Given the description of an element on the screen output the (x, y) to click on. 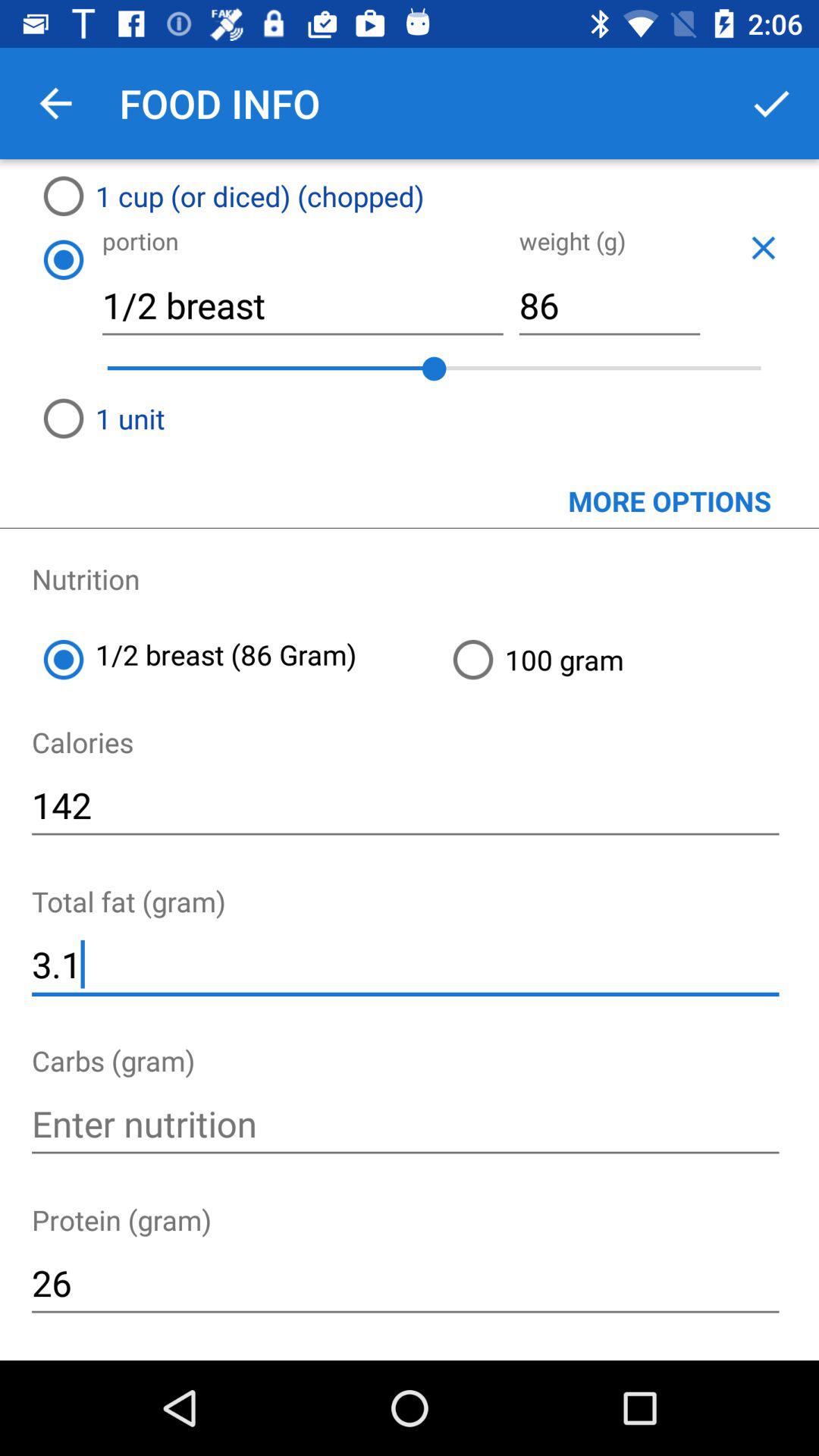
close out of screen (763, 247)
